Given the description of an element on the screen output the (x, y) to click on. 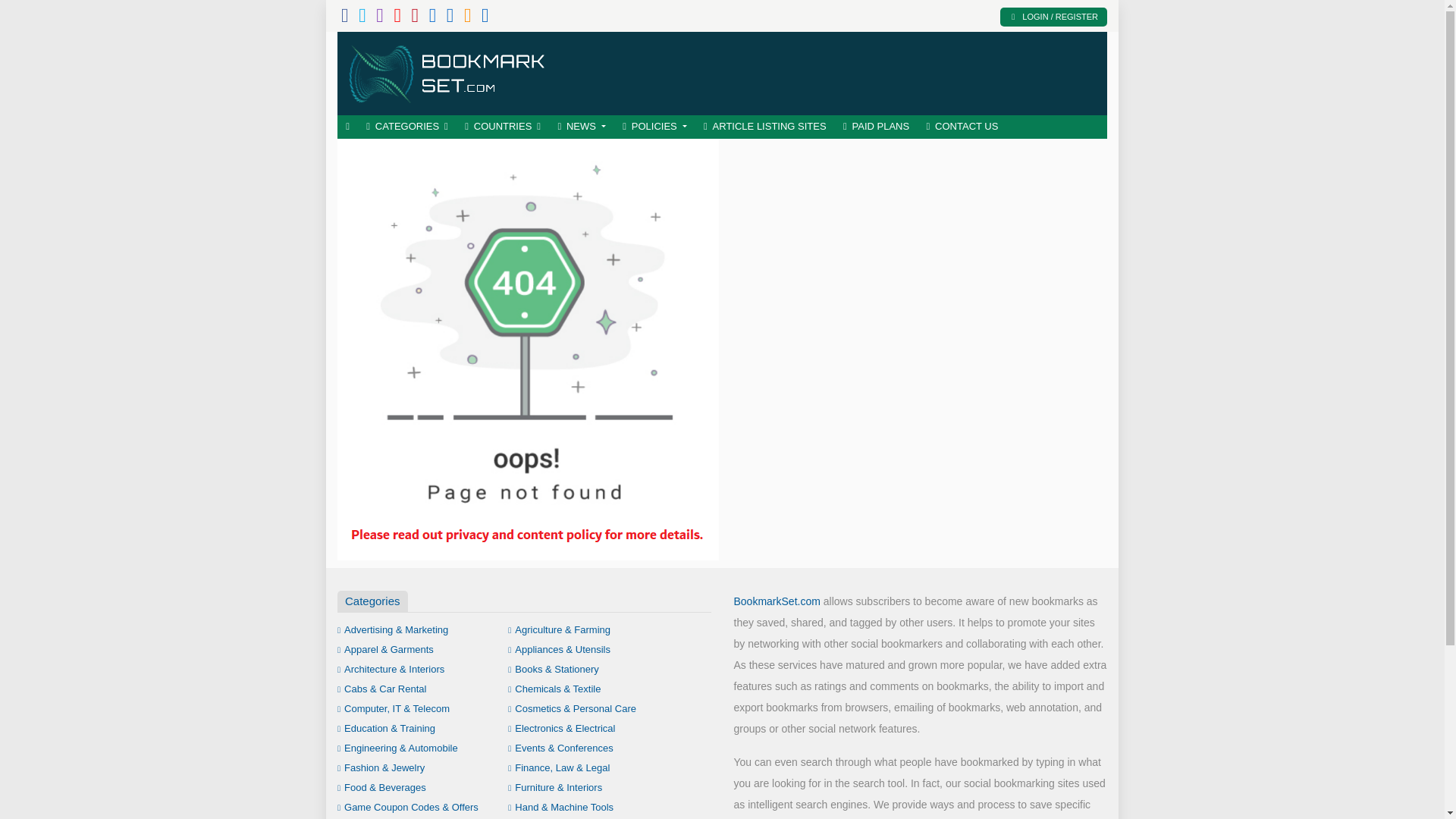
Quality Search Engine Optimization Technique and Strategy (447, 71)
CATEGORIES (407, 126)
